Given the description of an element on the screen output the (x, y) to click on. 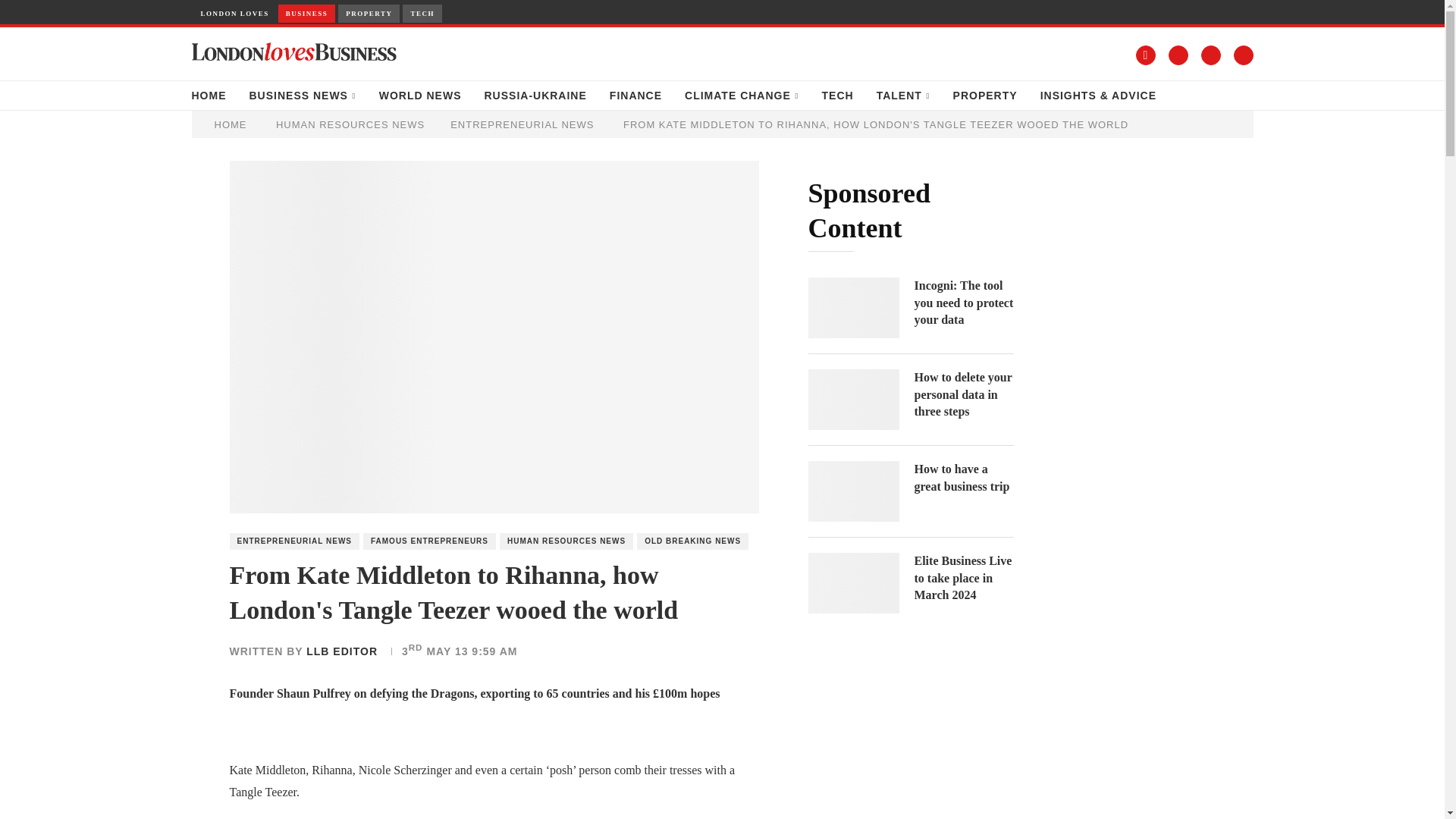
Incogni: The tool you need to protect your data (963, 302)
How to have a great business trip (853, 491)
How to delete your personal data in three steps (853, 399)
How to have a great business trip (963, 478)
How to delete your personal data in three steps (963, 394)
Incogni: The tool you need to protect your data (853, 307)
